Given the description of an element on the screen output the (x, y) to click on. 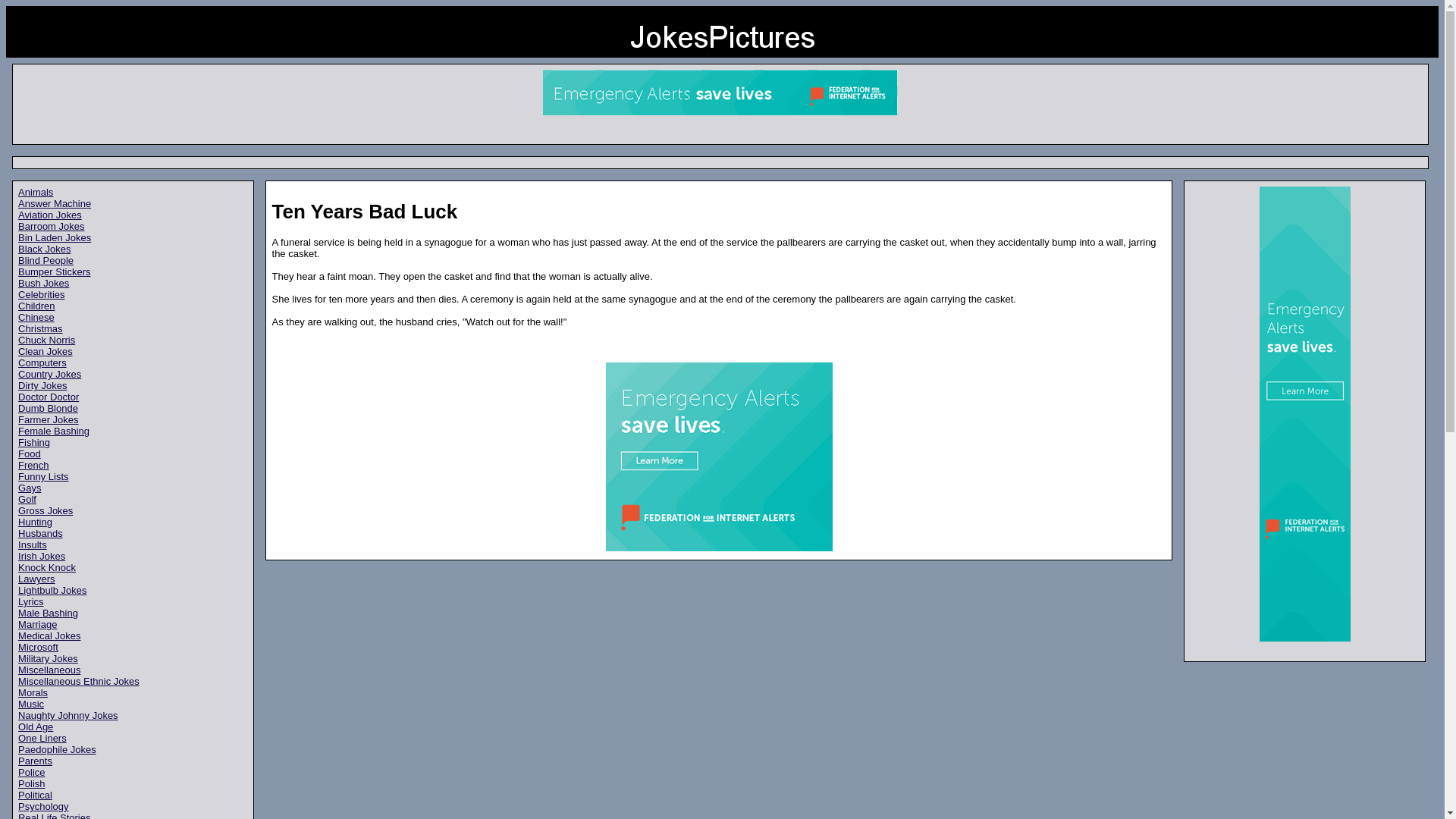
Clean Jokes (44, 351)
Country Jokes (49, 374)
Knock Knock (46, 567)
Dumb Blonde (47, 408)
Aviation Jokes (49, 214)
Lyrics (30, 601)
Golf (26, 499)
Answer Machine (53, 203)
Fishing (33, 441)
Dirty Jokes (41, 385)
